Given the description of an element on the screen output the (x, y) to click on. 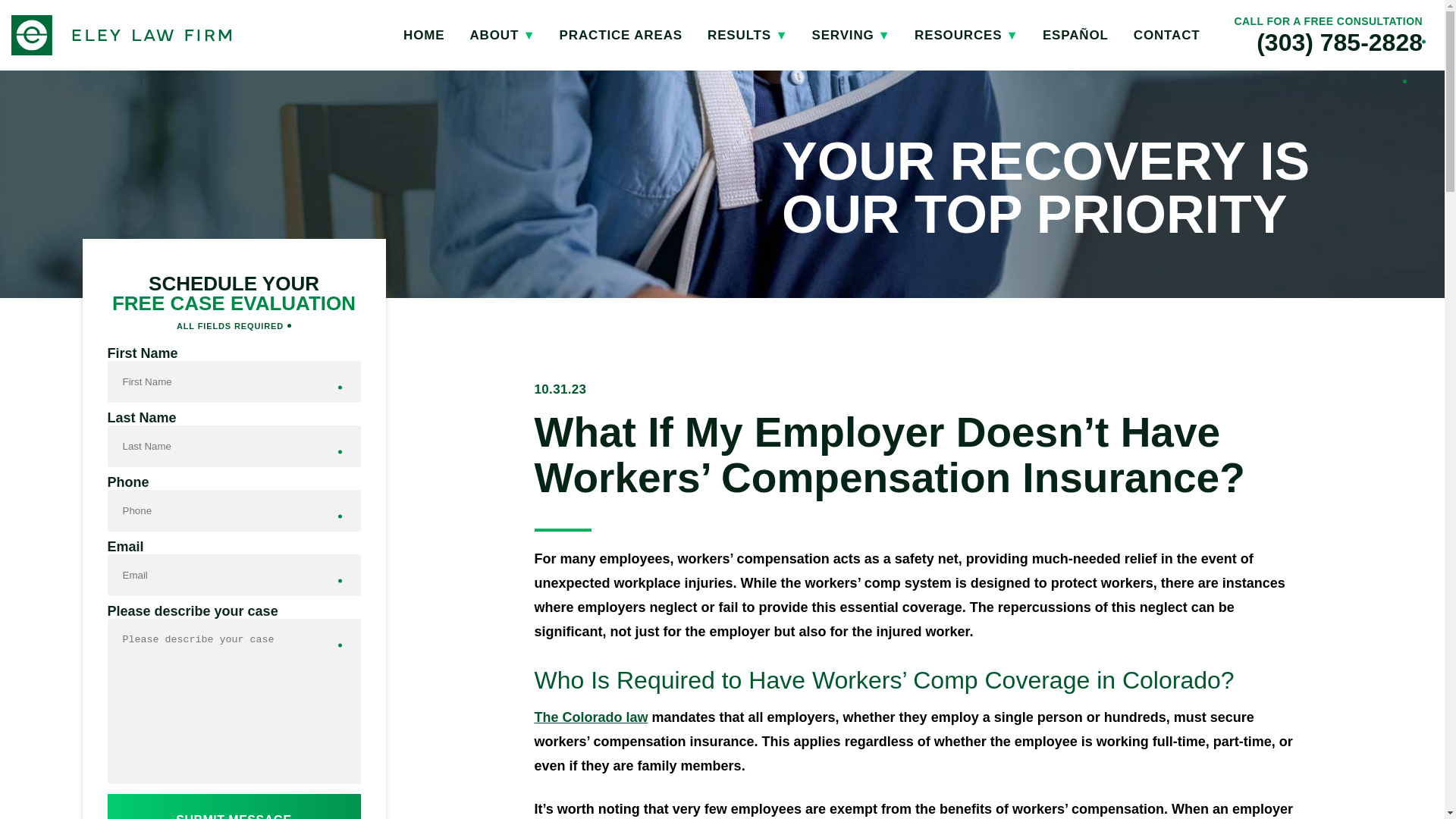
CONTACT (1166, 34)
RESULTS (745, 34)
SUBMIT MESSAGE (234, 806)
HOME (423, 34)
SERVING (849, 34)
ABOUT (500, 34)
The Colorado law (590, 717)
RESOURCES (965, 34)
SUBMIT MESSAGE (234, 806)
PRACTICE AREAS (620, 34)
